Given the description of an element on the screen output the (x, y) to click on. 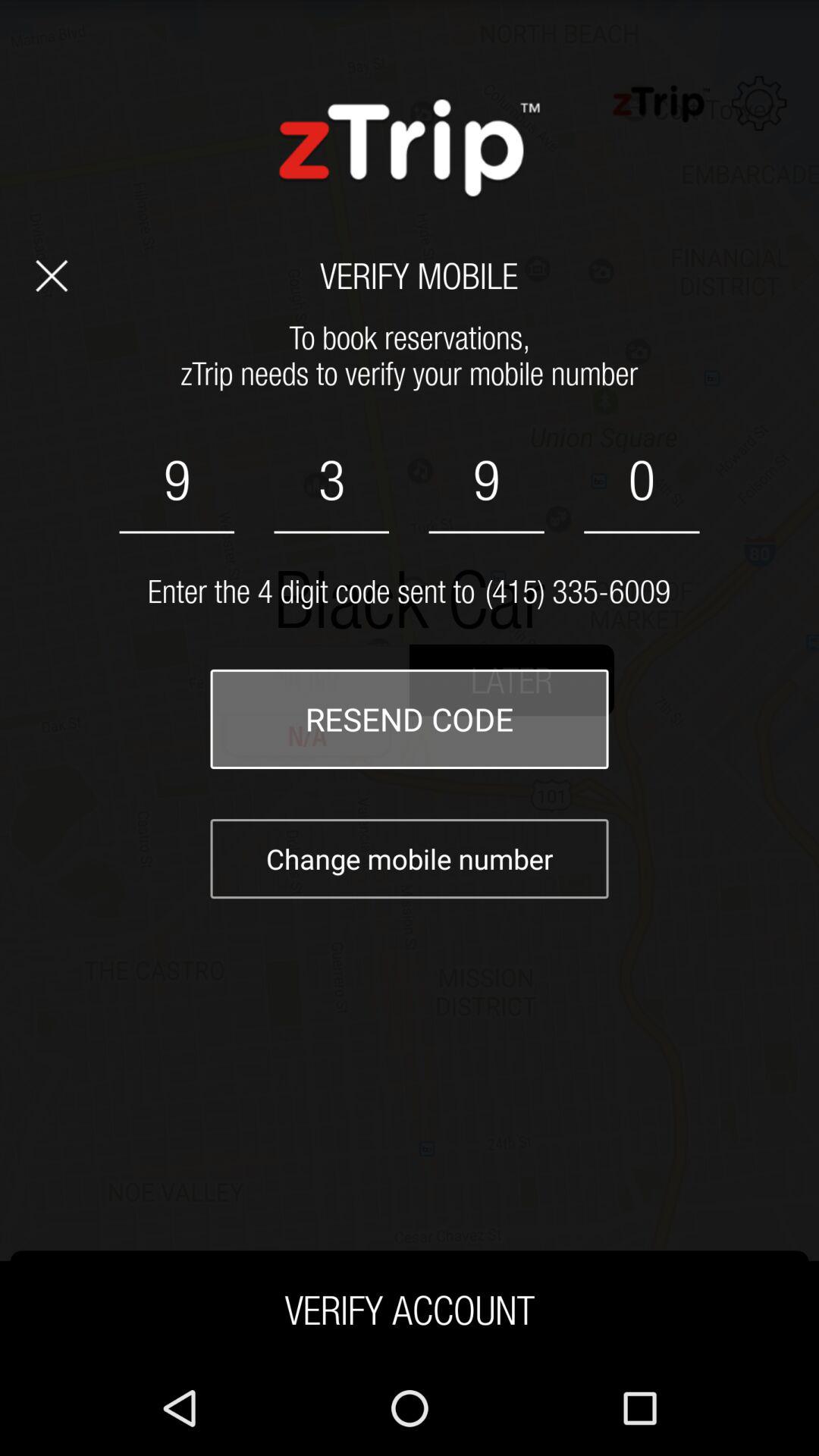
select the text below resend code (409, 858)
select the field which has number 9 beside 0 (486, 480)
the cross mark symbol on the left of verify mobile (51, 275)
